Given the description of an element on the screen output the (x, y) to click on. 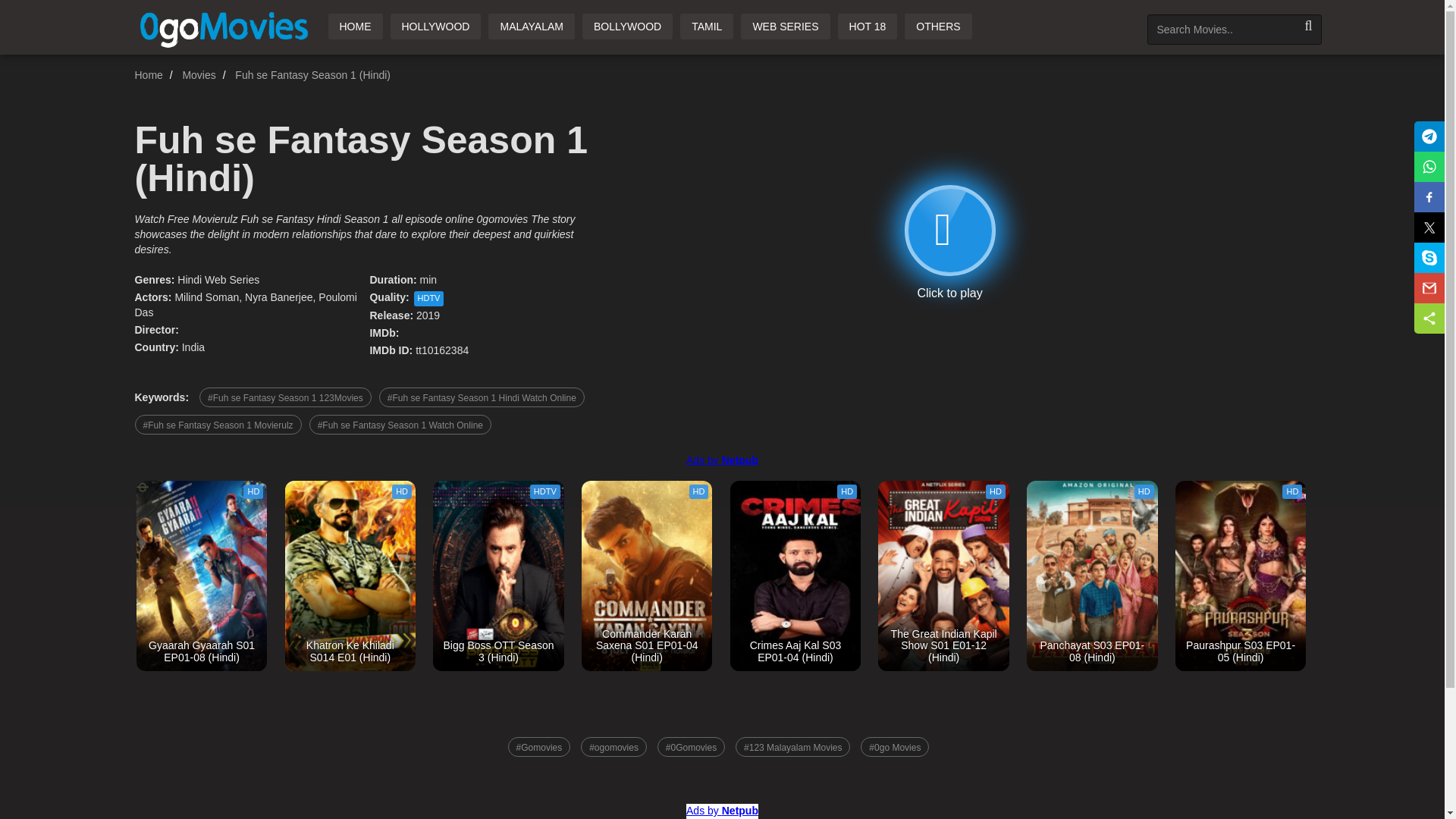
Fuh se Fantasy Season 1 Hindi Watch Online (481, 397)
Fuh se Fantasy Season 1 Movierulz (218, 424)
Poulomi Das (245, 304)
Milind Soman (206, 297)
Movies (198, 74)
0Gomovies (354, 26)
Hollywood Movies (435, 26)
HOLLYWOOD (435, 26)
TAMIL (706, 26)
0GoMovies (225, 26)
